Given the description of an element on the screen output the (x, y) to click on. 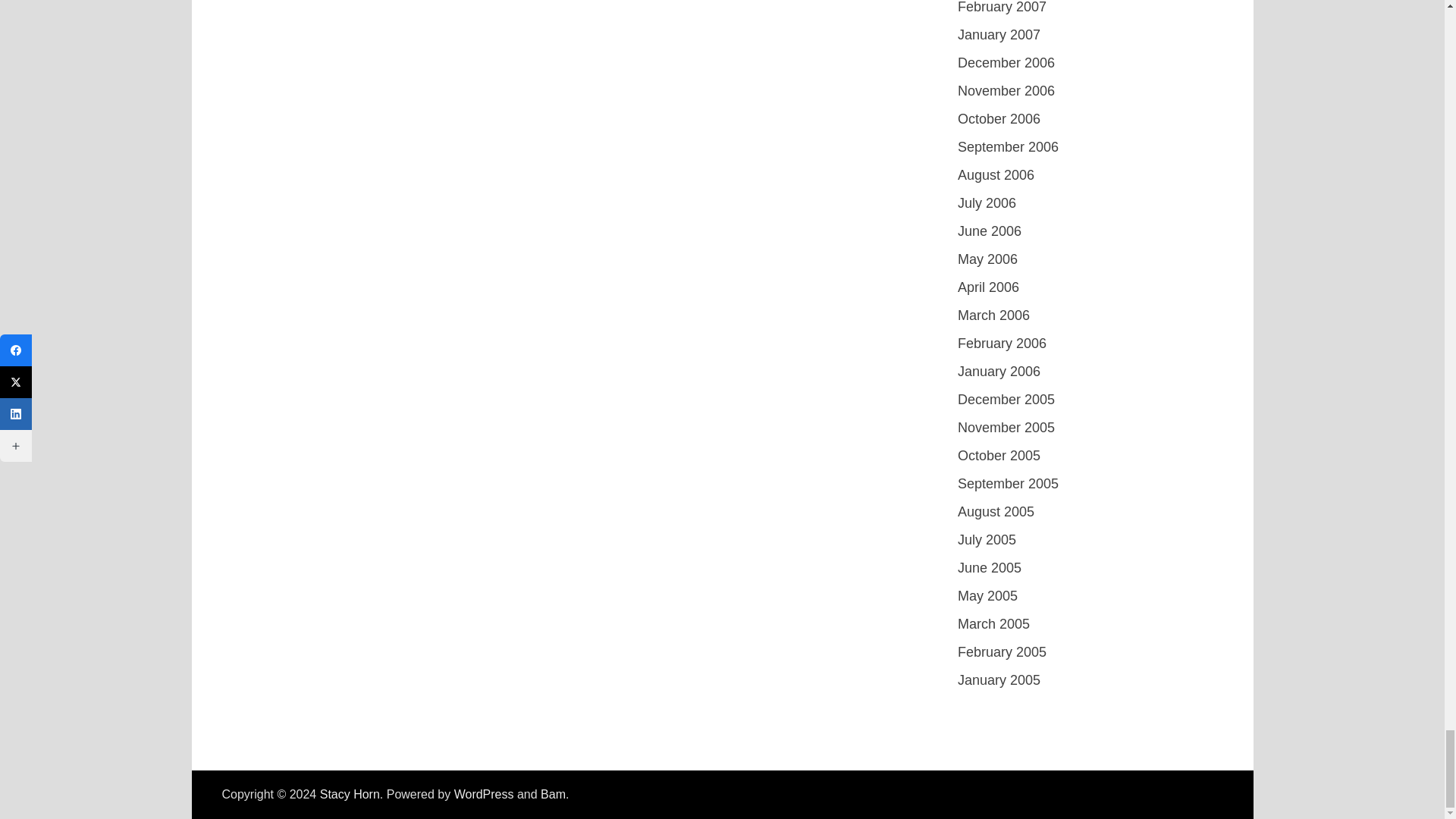
Stacy Horn (350, 793)
